Given the description of an element on the screen output the (x, y) to click on. 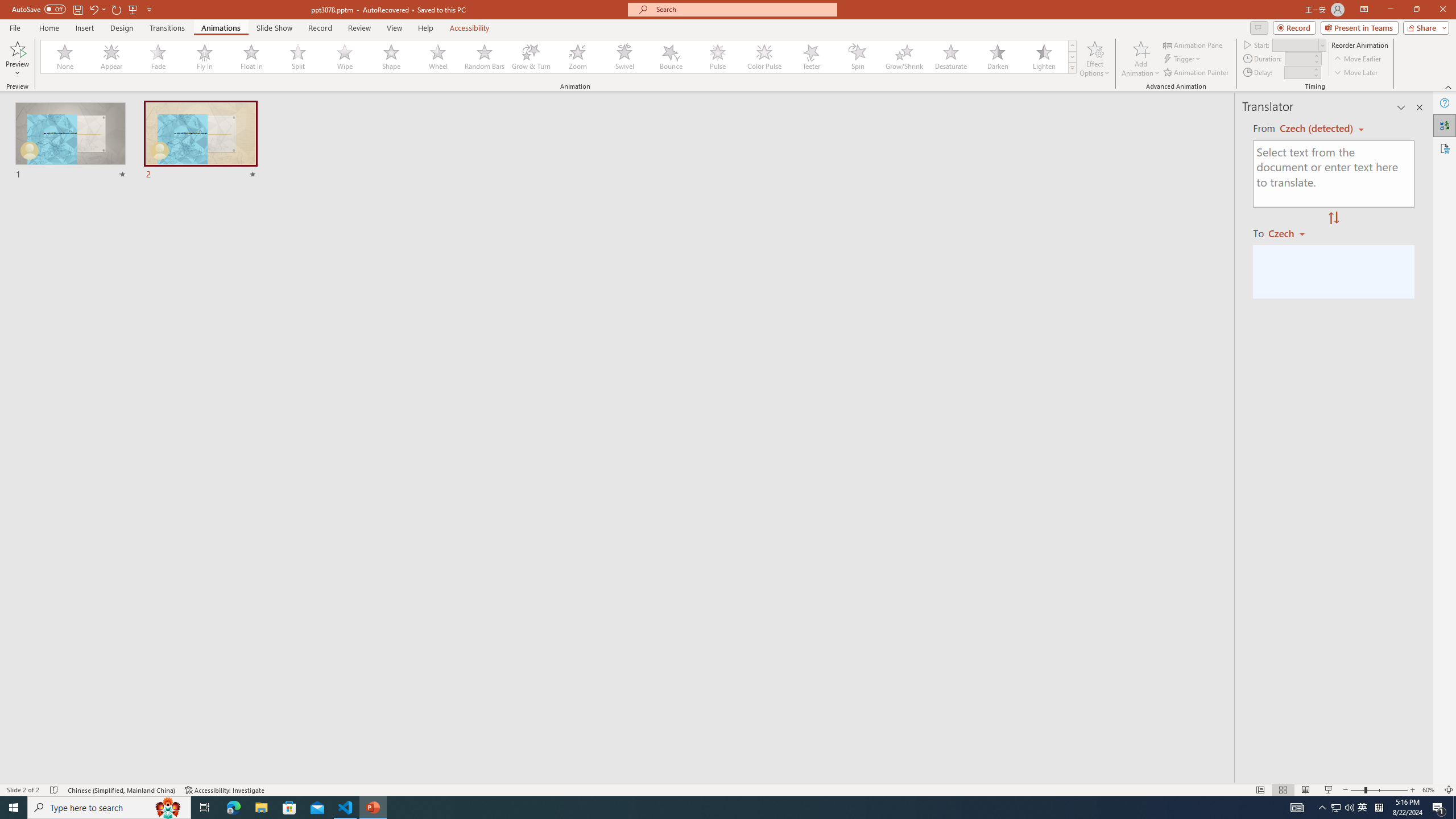
Darken (997, 56)
Move Earlier (1357, 58)
Float In (251, 56)
Grow & Turn (531, 56)
Move Later (1355, 72)
Desaturate (950, 56)
Row Down (1071, 56)
